Given the description of an element on the screen output the (x, y) to click on. 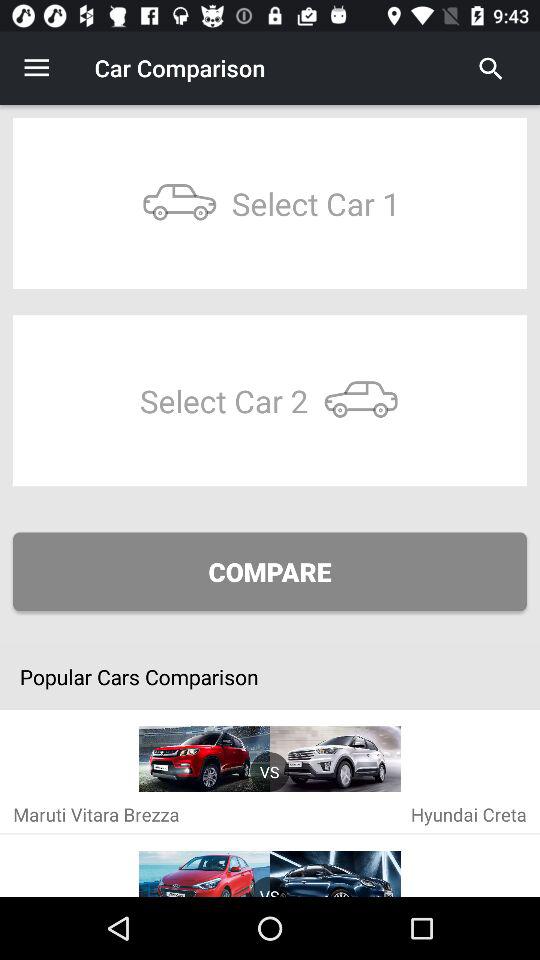
select compare item (269, 571)
